Given the description of an element on the screen output the (x, y) to click on. 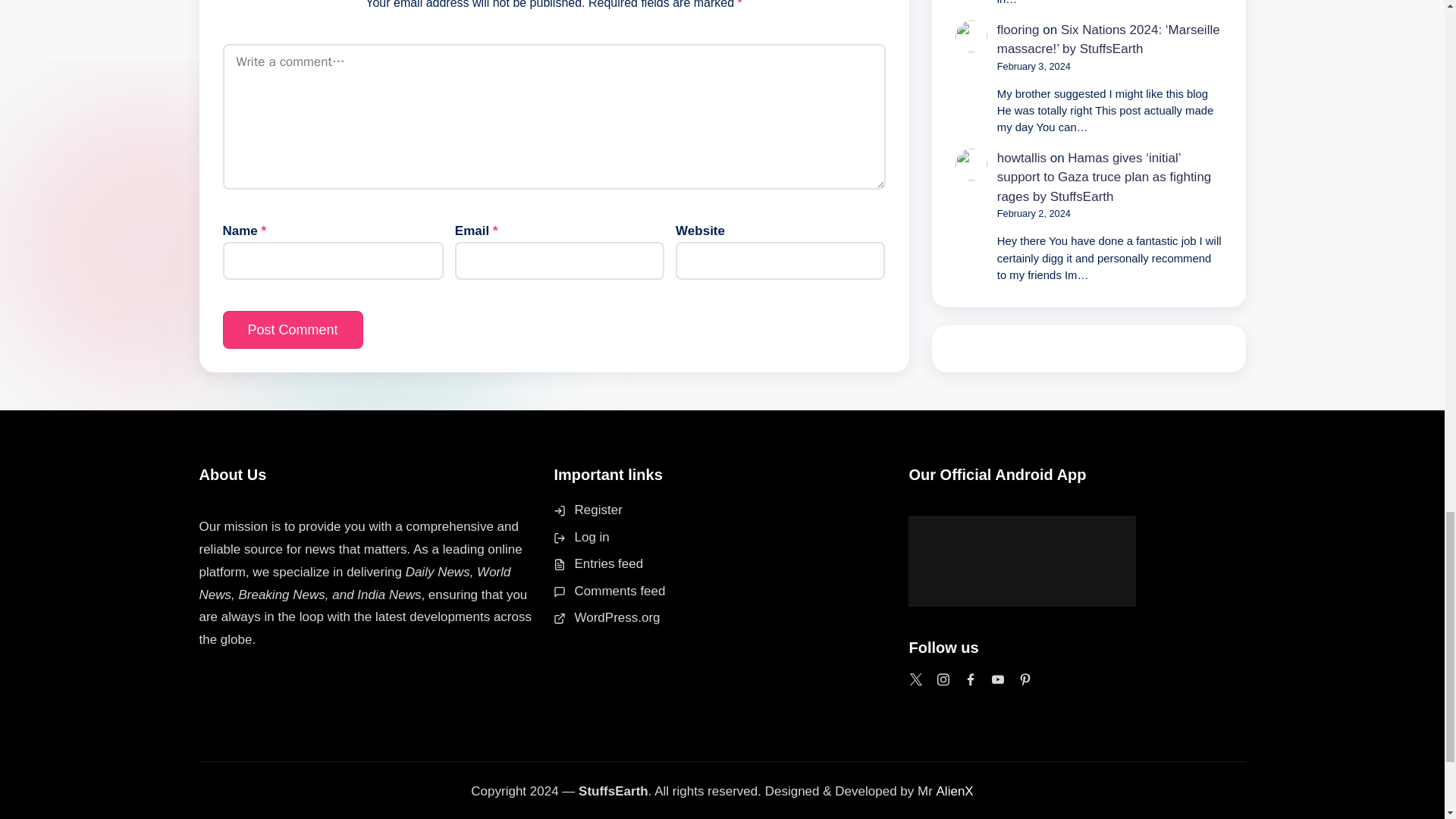
Instagram (943, 679)
Post Comment (292, 329)
Twitter (915, 679)
Pinterest (1024, 679)
Youtube (998, 679)
Facebook (970, 679)
